Given the description of an element on the screen output the (x, y) to click on. 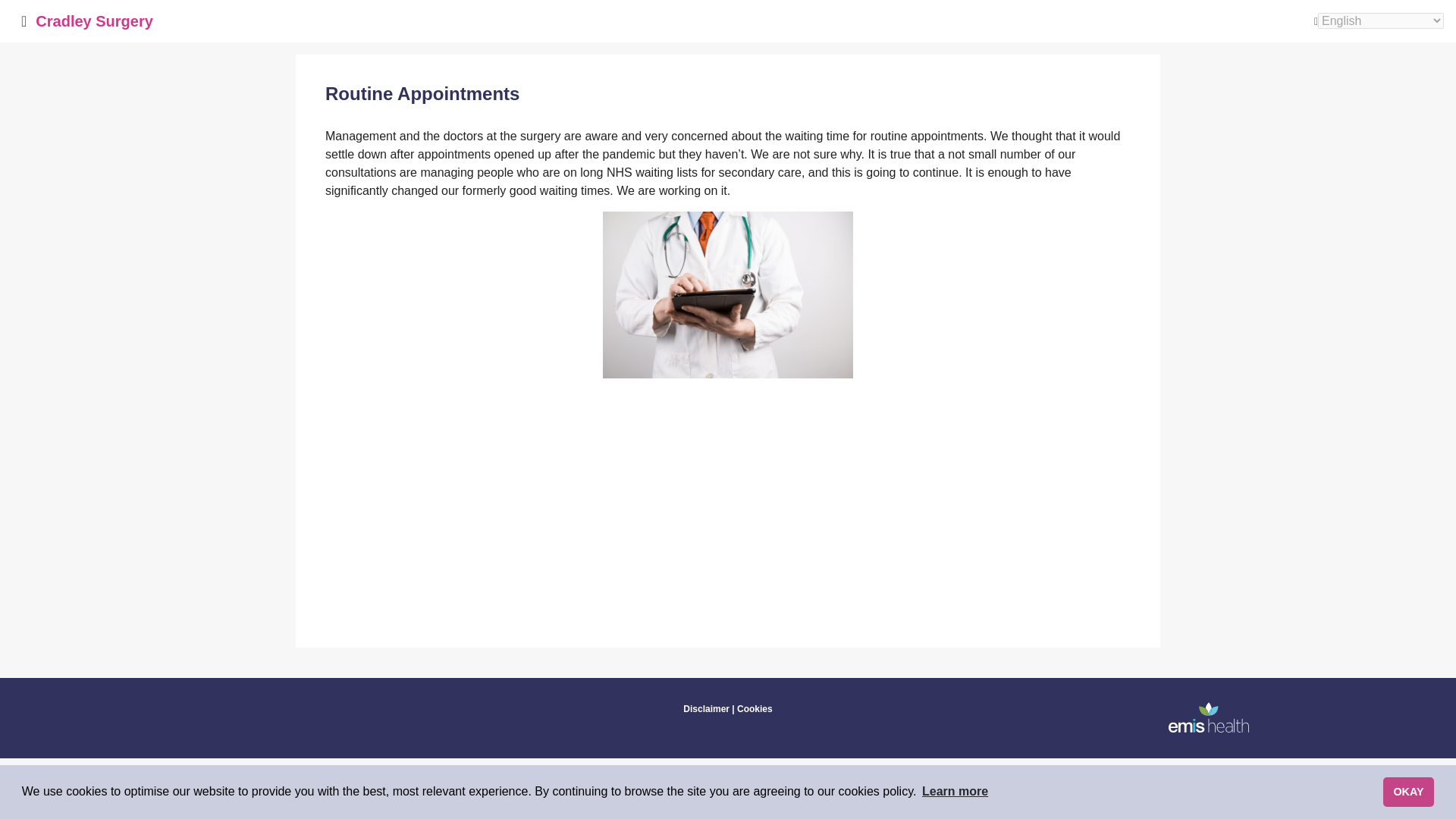
Cradley Surgery (93, 20)
